Given the description of an element on the screen output the (x, y) to click on. 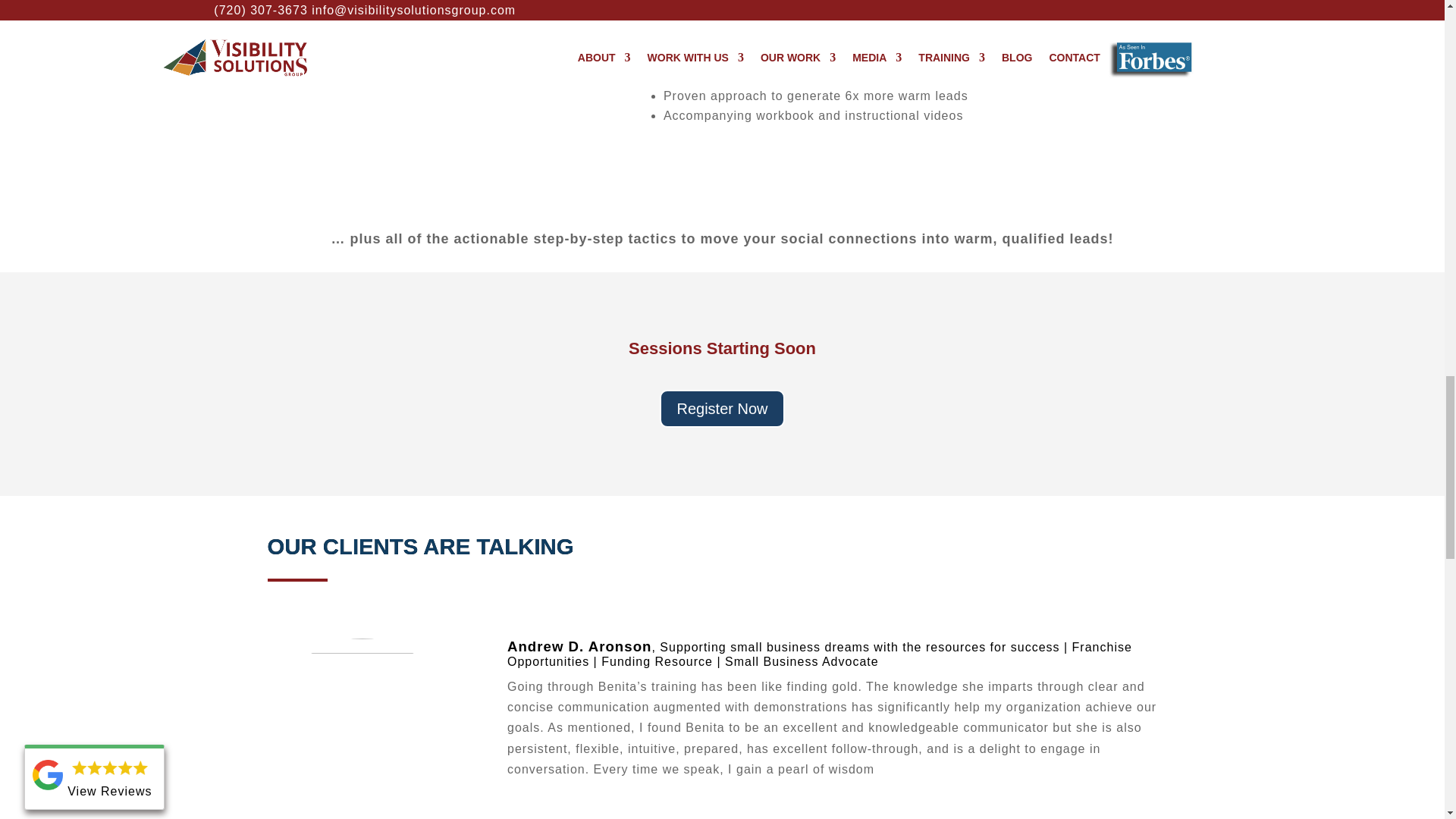
LinkedIN image (432, 91)
Register Now (721, 408)
